Given the description of an element on the screen output the (x, y) to click on. 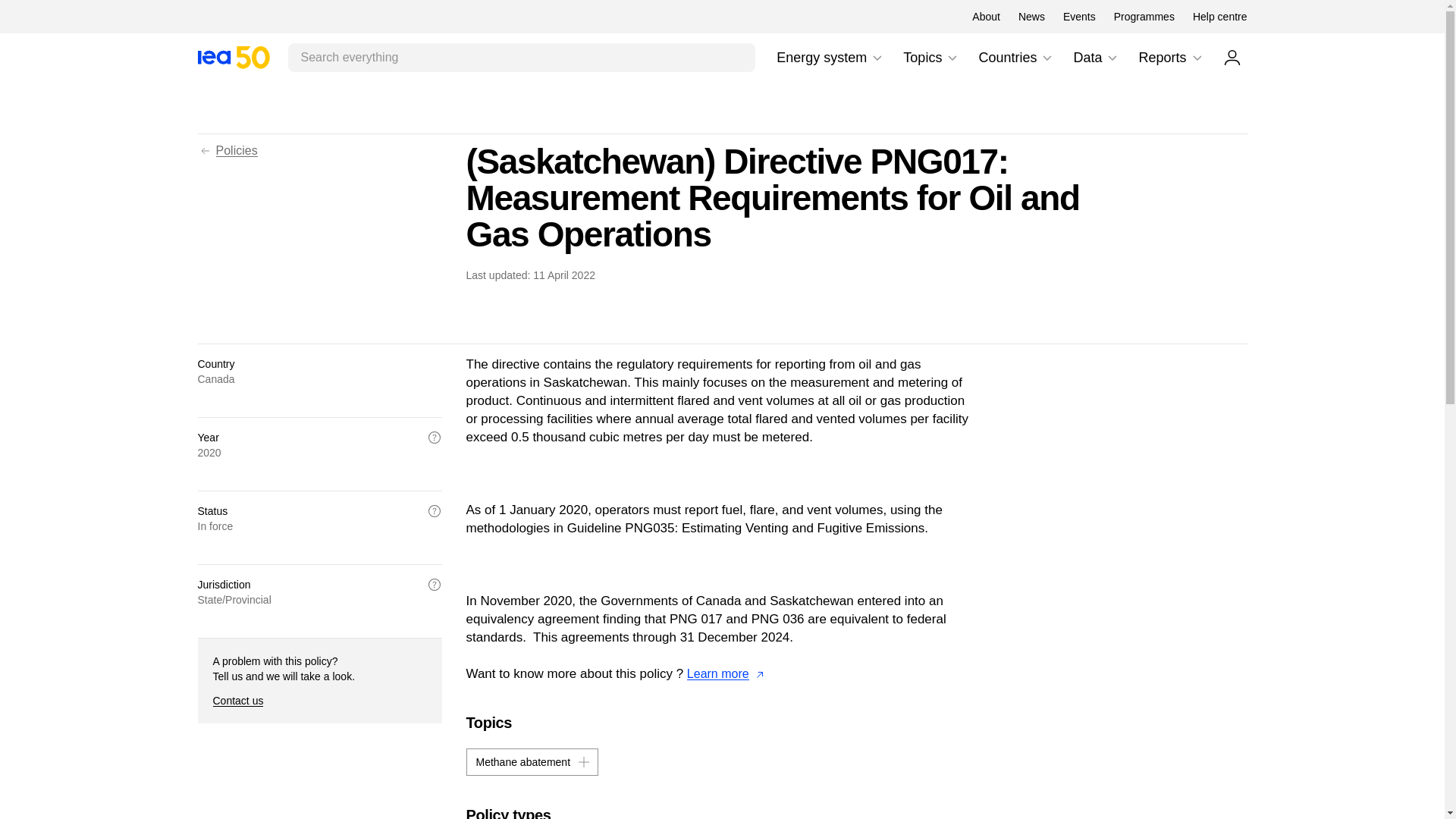
return (204, 150)
Chevron down (931, 57)
Chevron down (1046, 57)
Programmes (830, 57)
Chevron down (877, 57)
IEA (1143, 16)
Help centre (1112, 57)
IEA (232, 56)
Events (1219, 16)
Chevron down (232, 56)
Chevron down (1079, 16)
News (951, 57)
About (1196, 57)
